Given the description of an element on the screen output the (x, y) to click on. 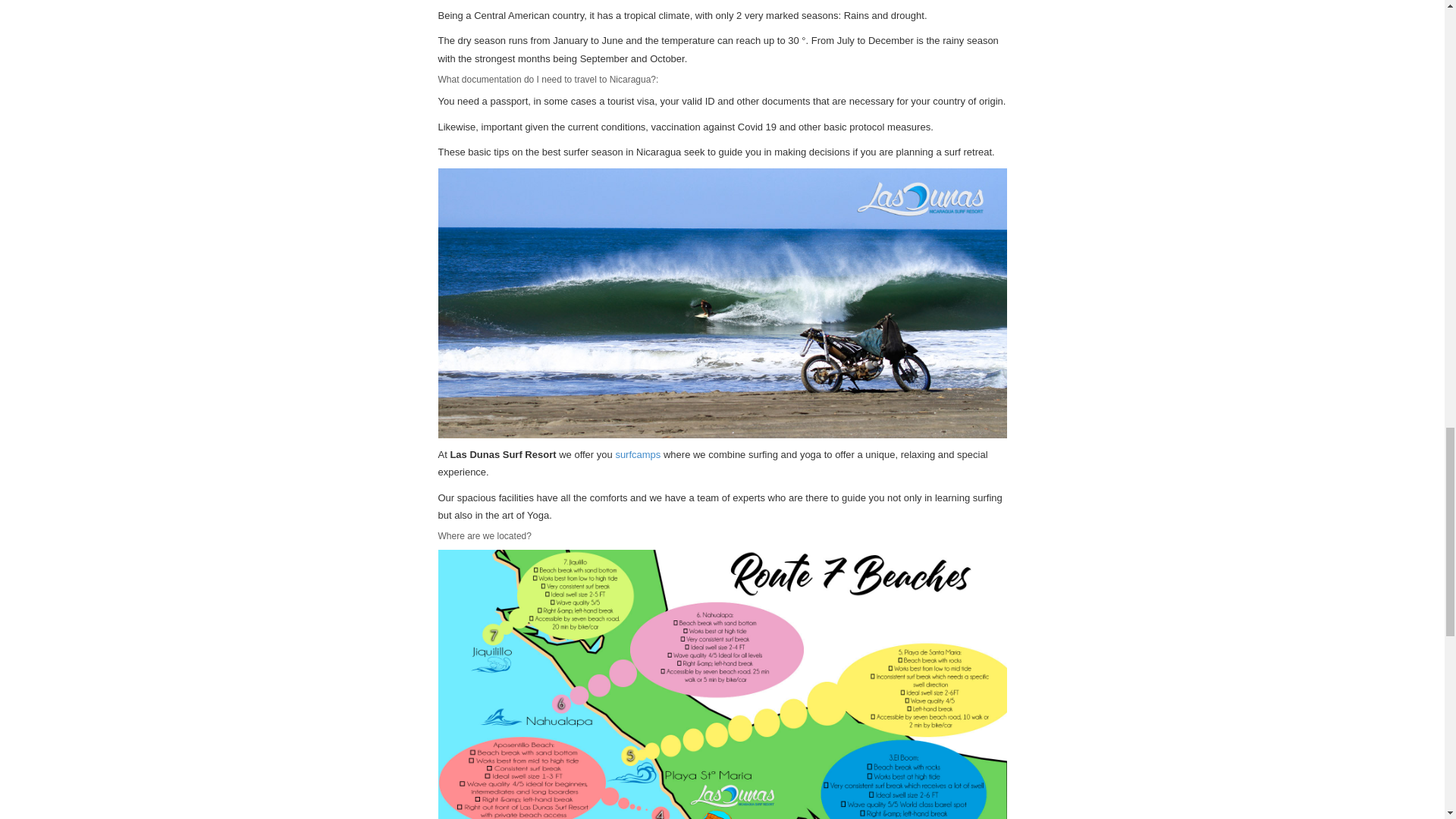
surfcamps (637, 454)
 Surfcamps (637, 454)
